Given the description of an element on the screen output the (x, y) to click on. 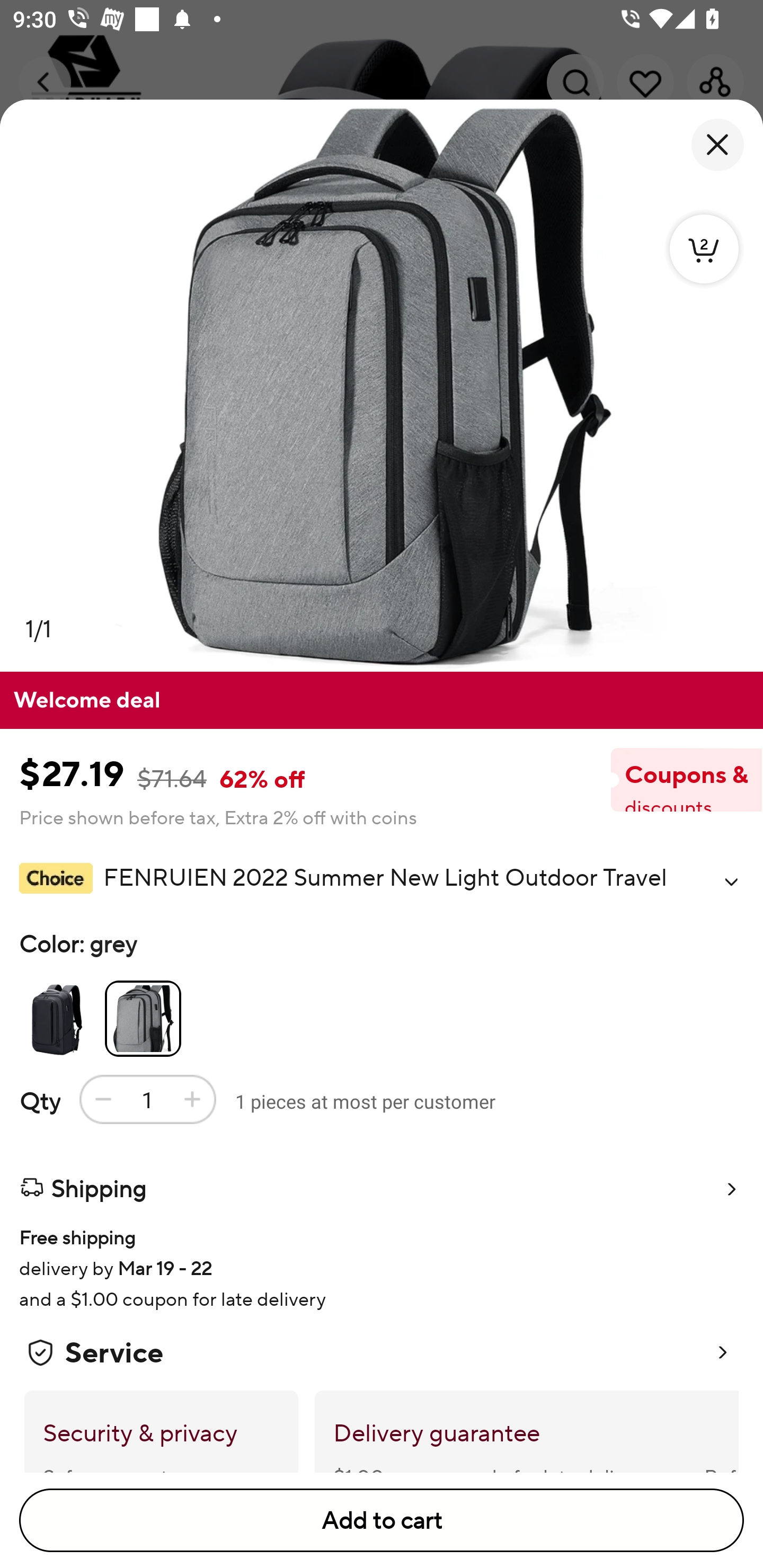
close  (717, 144)
2 (703, 248)
 (730, 881)
Add to cart (381, 1520)
